Given the description of an element on the screen output the (x, y) to click on. 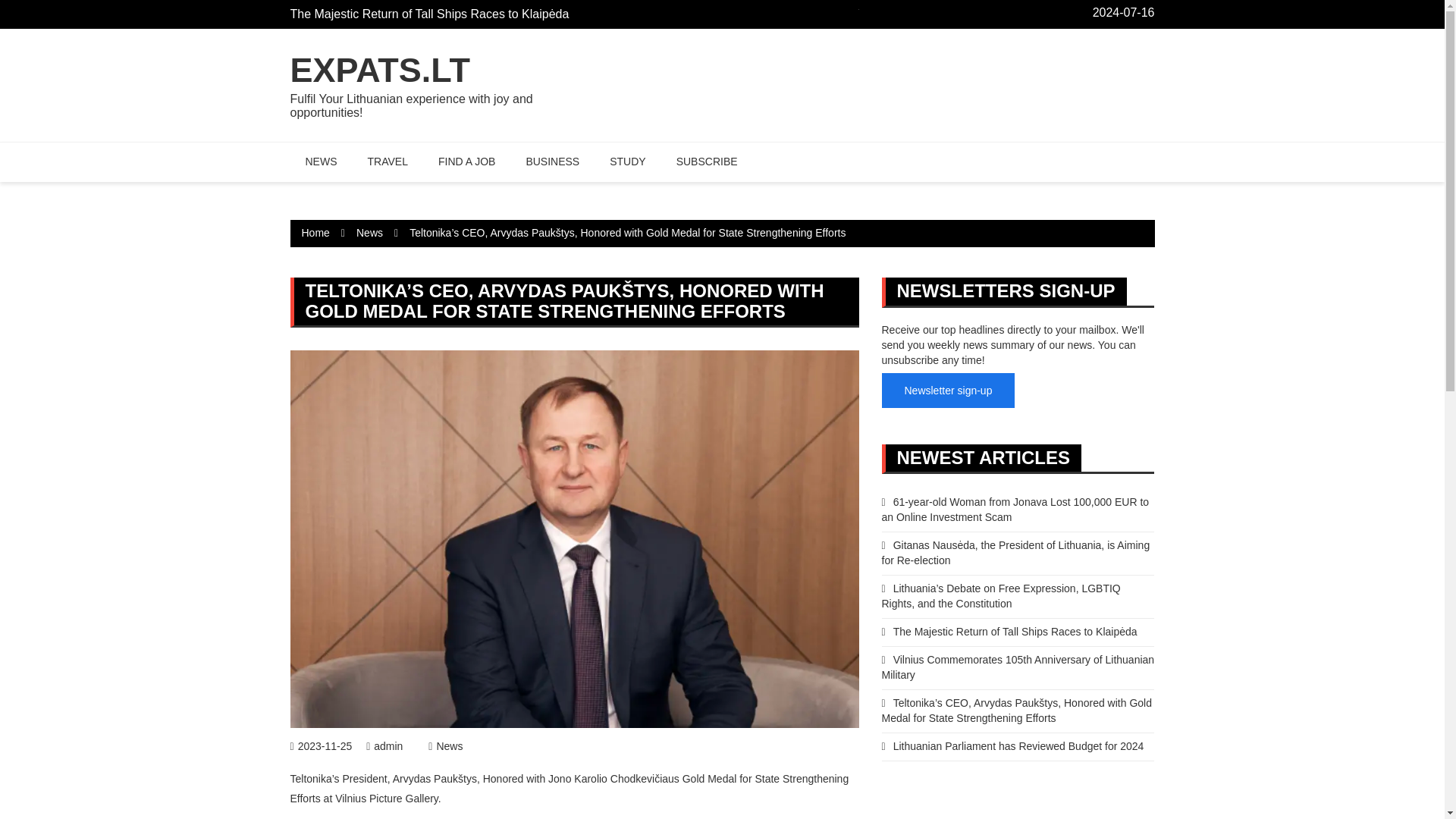
FIND A JOB (467, 161)
STUDY (627, 161)
TRAVEL (387, 161)
NEWS (320, 161)
EXPATS.LT (379, 69)
News (369, 232)
2023-11-25 (320, 746)
News (445, 746)
Home (315, 232)
SUBSCRIBE (706, 161)
Newsletter sign-up (947, 390)
Lithuanian Parliament has Reviewed Budget for 2024 (1011, 746)
BUSINESS (552, 161)
